Given the description of an element on the screen output the (x, y) to click on. 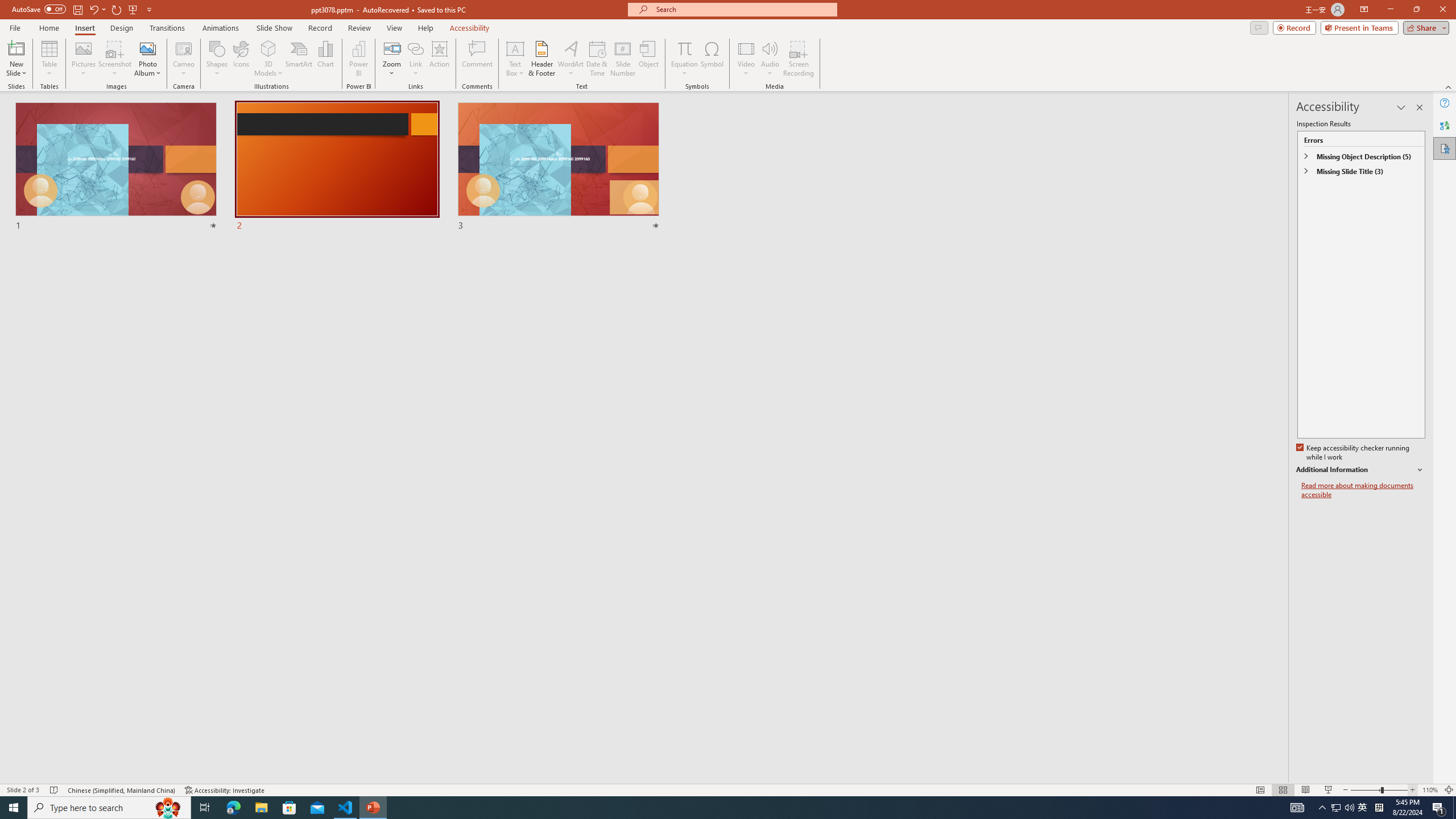
Power BI (358, 58)
Slide Number (622, 58)
Zoom to Fit  (1449, 790)
Zoom 110% (1430, 790)
Comments (1259, 27)
Minimize (1390, 9)
Save (77, 9)
Screen Recording... (798, 58)
Review (359, 28)
Present in Teams (1359, 27)
Reading View (1305, 790)
Accessibility (1444, 147)
Animations (220, 28)
